Given the description of an element on the screen output the (x, y) to click on. 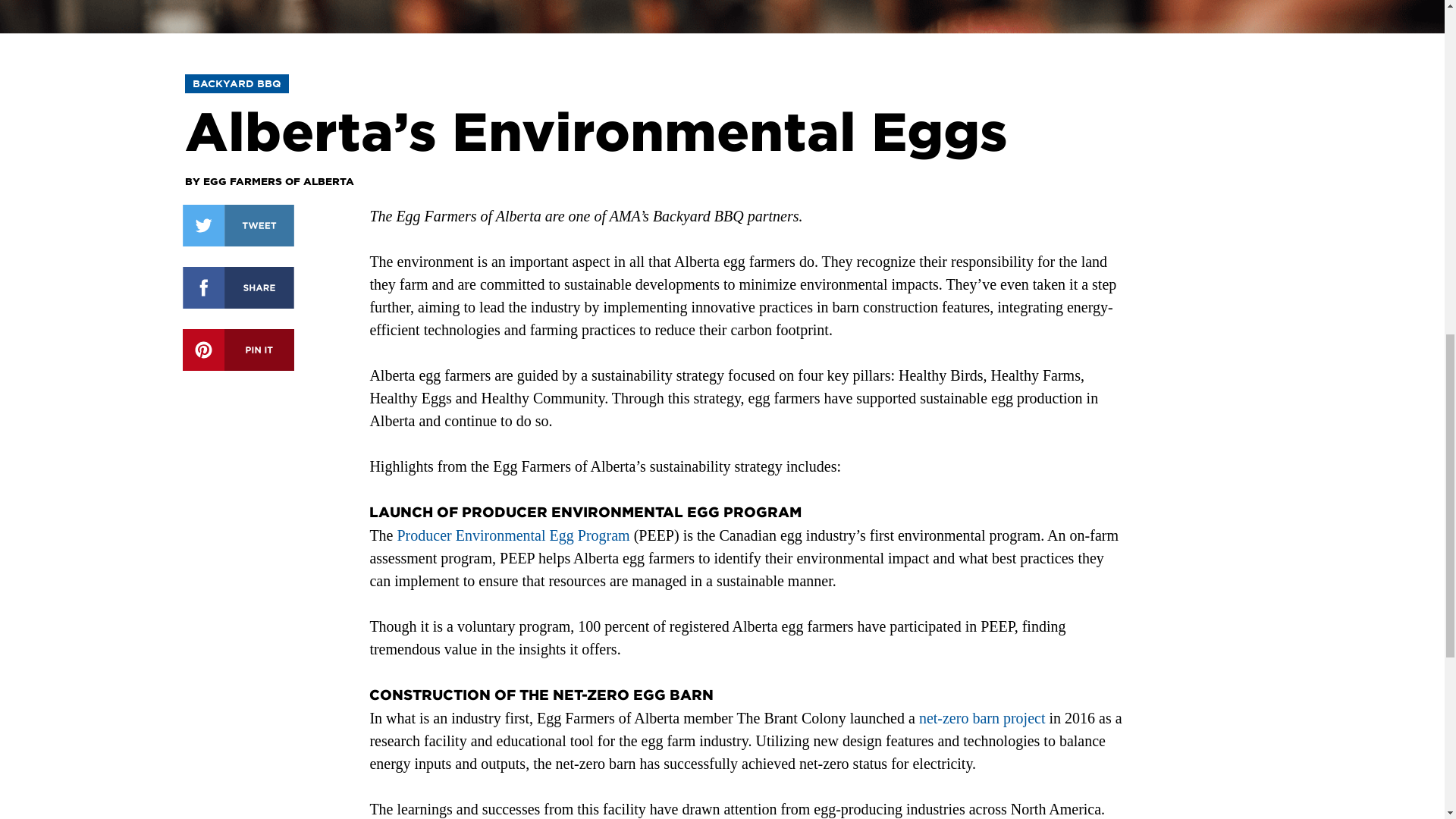
net-zero barn project (981, 718)
Producer Environmental Egg Program (513, 535)
BACKYARD BBQ (236, 83)
